Given the description of an element on the screen output the (x, y) to click on. 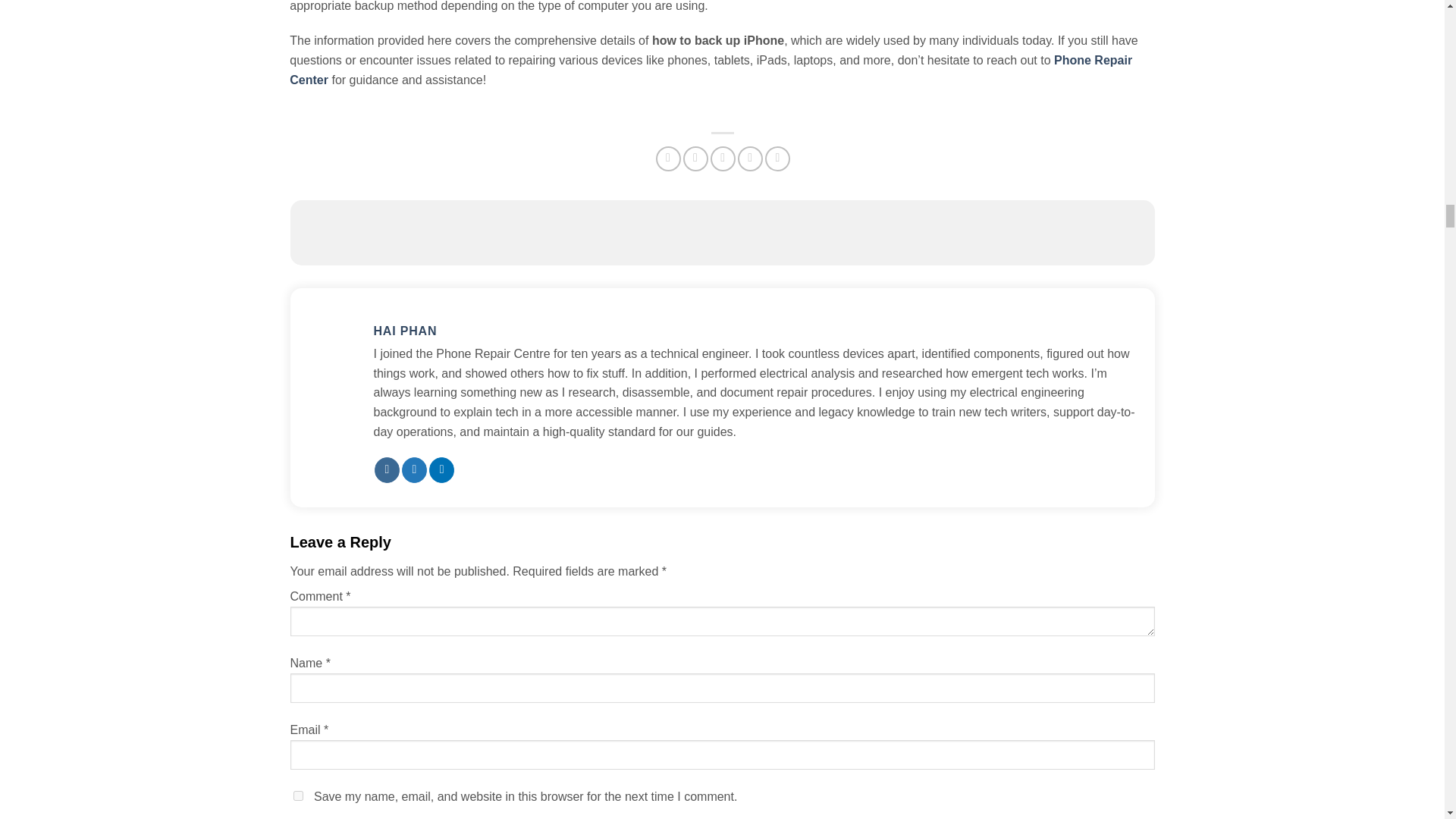
Share on LinkedIn (777, 158)
Follow on LinkedIn (441, 470)
Email to a Friend (722, 158)
Pin on Pinterest (750, 158)
Share on Twitter (694, 158)
Follow on Instagram (386, 470)
Follow on Twitter (413, 470)
Share on Facebook (668, 158)
yes (297, 795)
